Given the description of an element on the screen output the (x, y) to click on. 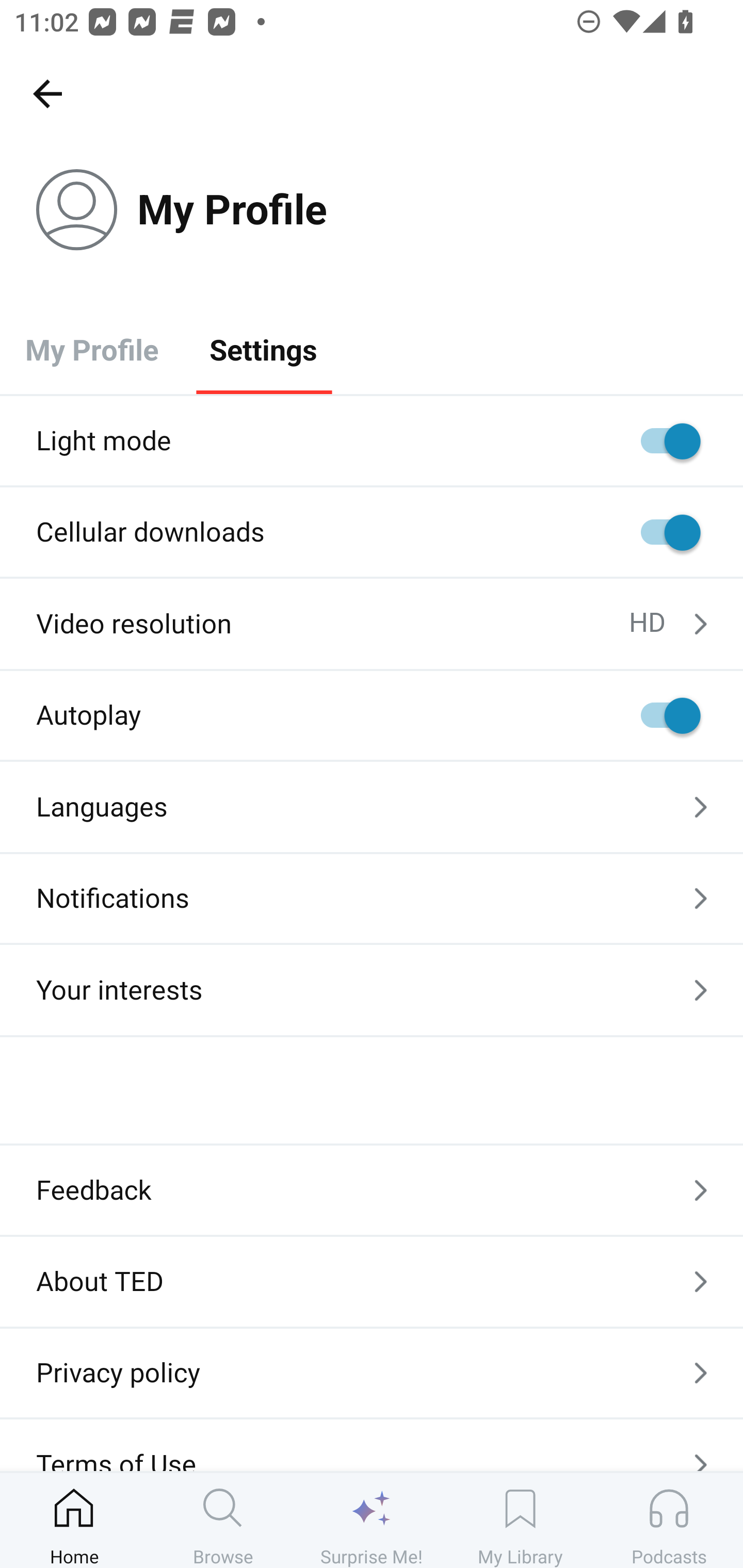
Home, back (47, 92)
My Profile (92, 348)
Settings (263, 348)
Video resolution HD (371, 623)
Languages (371, 806)
Notifications (371, 897)
Your interests (371, 989)
Feedback (371, 1190)
About TED (371, 1281)
Privacy policy (371, 1372)
Home (74, 1520)
Browse (222, 1520)
Surprise Me! (371, 1520)
My Library (519, 1520)
Podcasts (668, 1520)
